Given the description of an element on the screen output the (x, y) to click on. 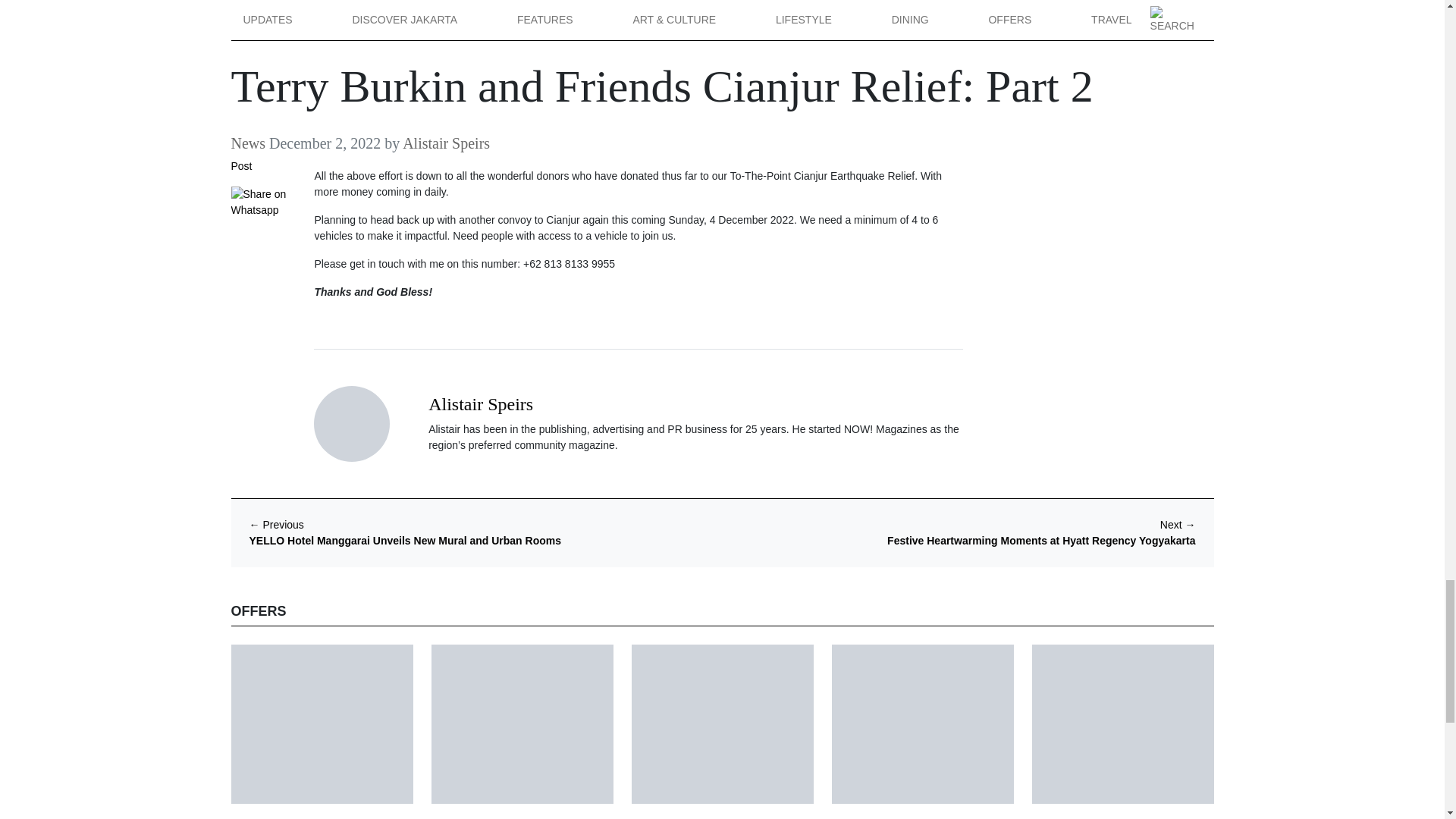
Alistair Speirs (480, 403)
